Given the description of an element on the screen output the (x, y) to click on. 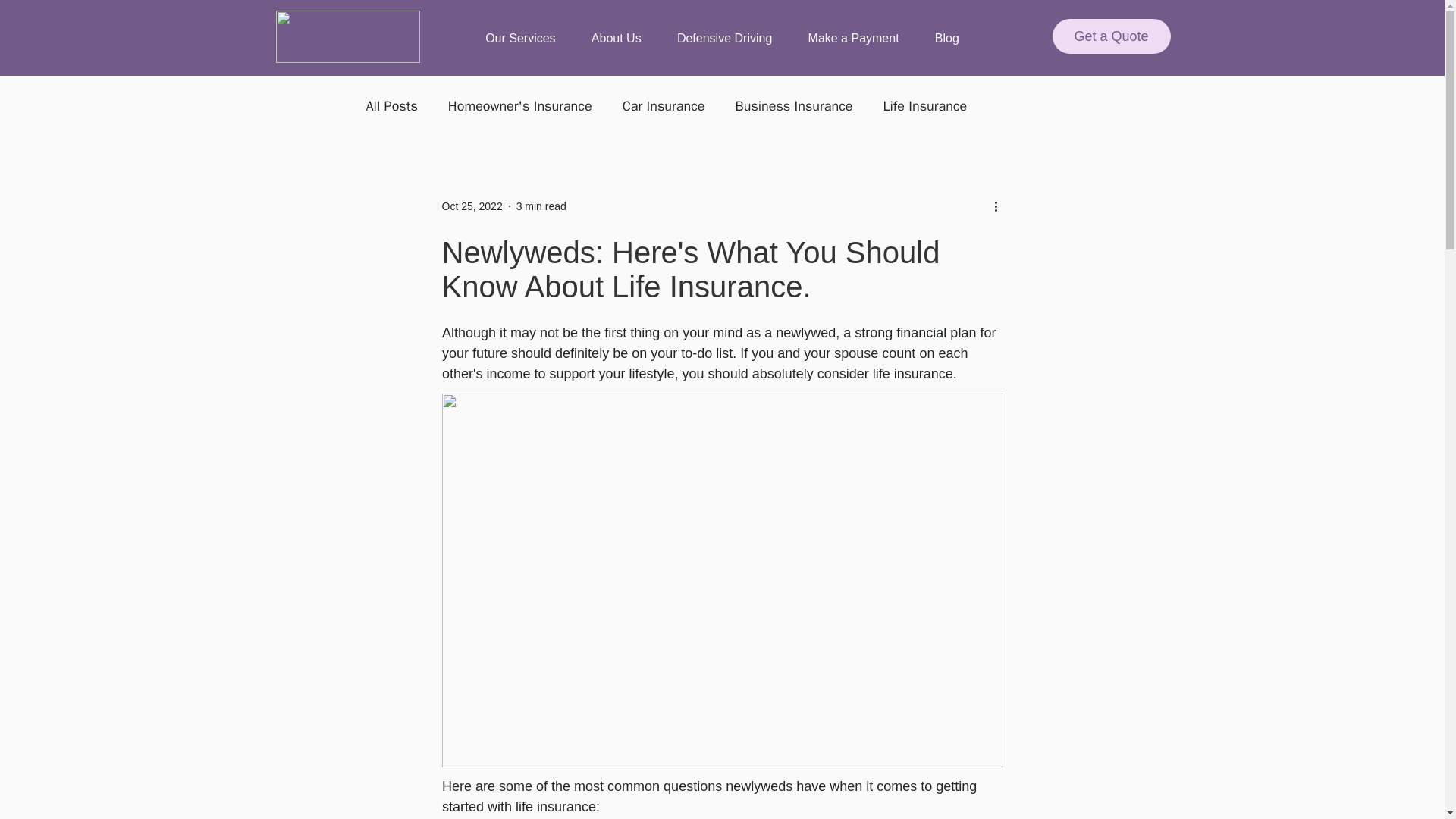
Blog (947, 38)
Make a Payment (853, 38)
Defensive Driving (724, 38)
Flour City Logo.png (348, 36)
All Posts (390, 106)
Get a Quote (1111, 36)
Business Insurance (794, 106)
About Us (616, 38)
Homeowner's Insurance (520, 106)
Oct 25, 2022 (471, 205)
